Given the description of an element on the screen output the (x, y) to click on. 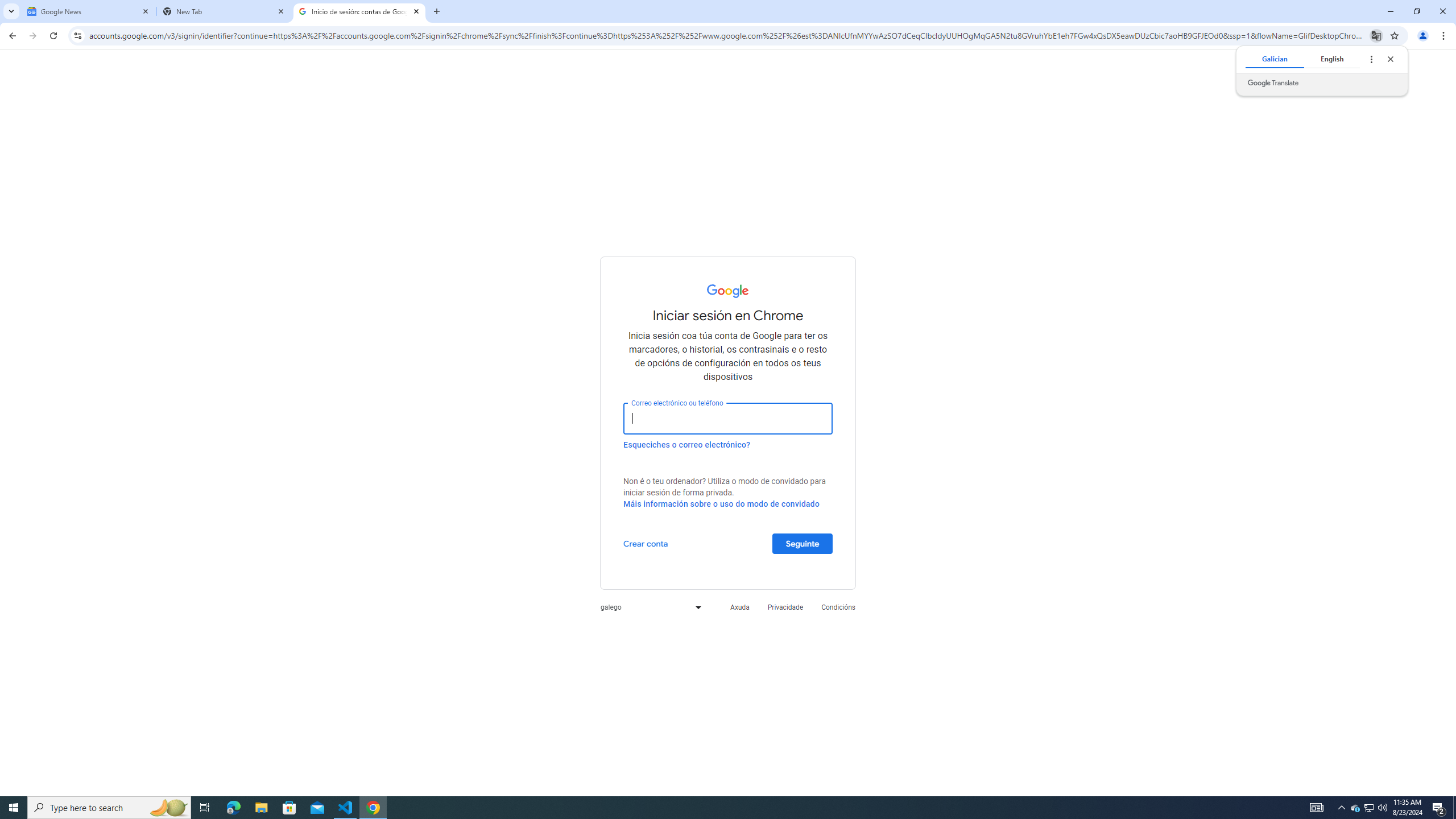
New Tab (224, 11)
Seguinte (801, 543)
Google News (88, 11)
